Given the description of an element on the screen output the (x, y) to click on. 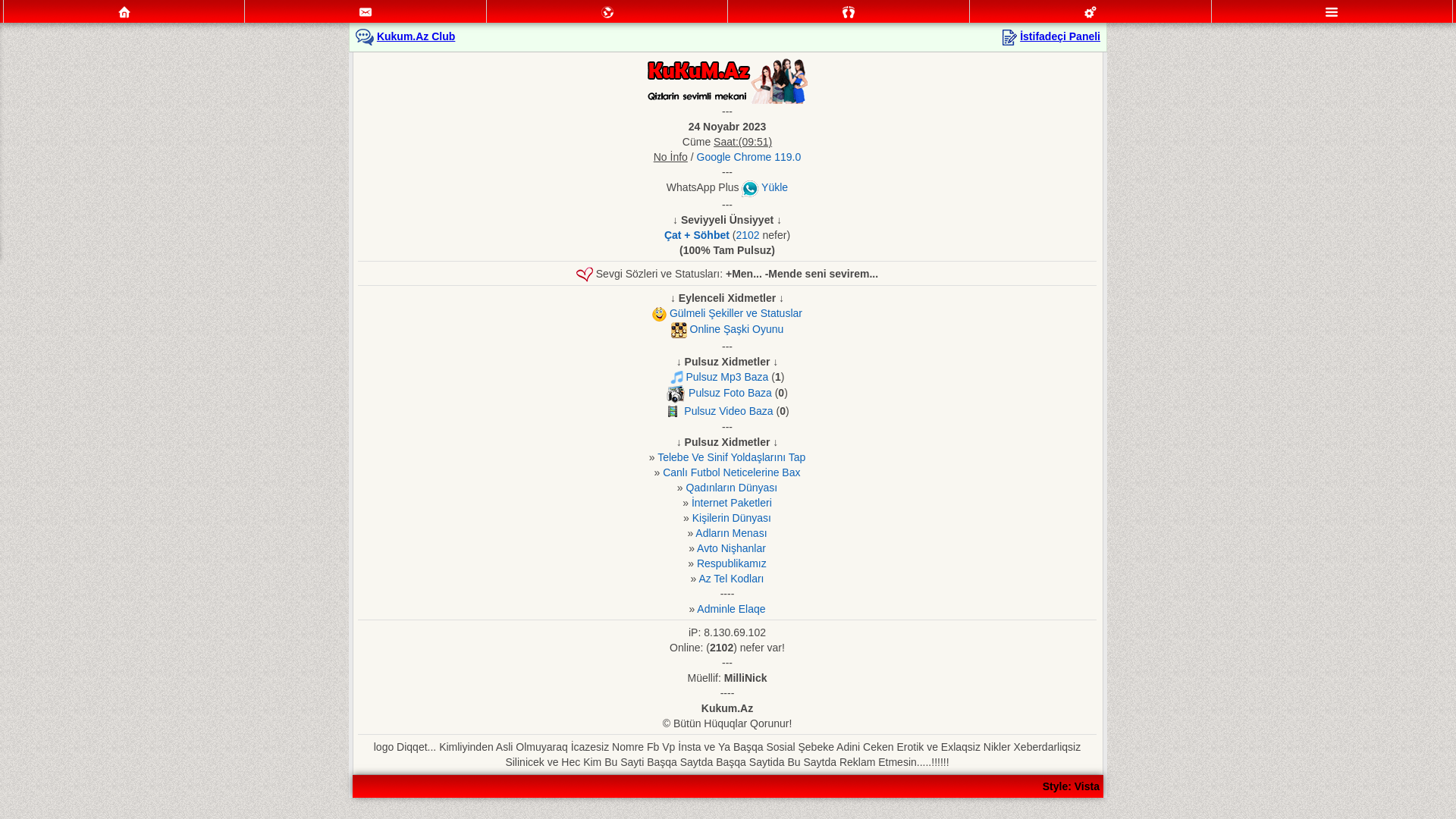
Ana Sehife Element type: hover (124, 12)
Pulsuz Mp3 Baza Element type: text (726, 376)
Adminle Elaqe Element type: text (730, 608)
Pulsuz Foto Baza Element type: text (729, 392)
Qonaqlar Element type: hover (848, 11)
Style: Vista Element type: text (1070, 786)
Qonaqlar Element type: hover (848, 12)
2102 Element type: text (747, 235)
Mektublar Element type: hover (607, 12)
Ana Sehife Element type: hover (123, 11)
Google Chrome 119.0 Element type: text (748, 156)
Mesajlar Element type: hover (365, 12)
Mektublar Element type: hover (607, 11)
Pulsuz Video Baza Element type: text (728, 410)
Kukum.Az Club Element type: text (415, 36)
Mesajlar Element type: hover (365, 11)
